Given the description of an element on the screen output the (x, y) to click on. 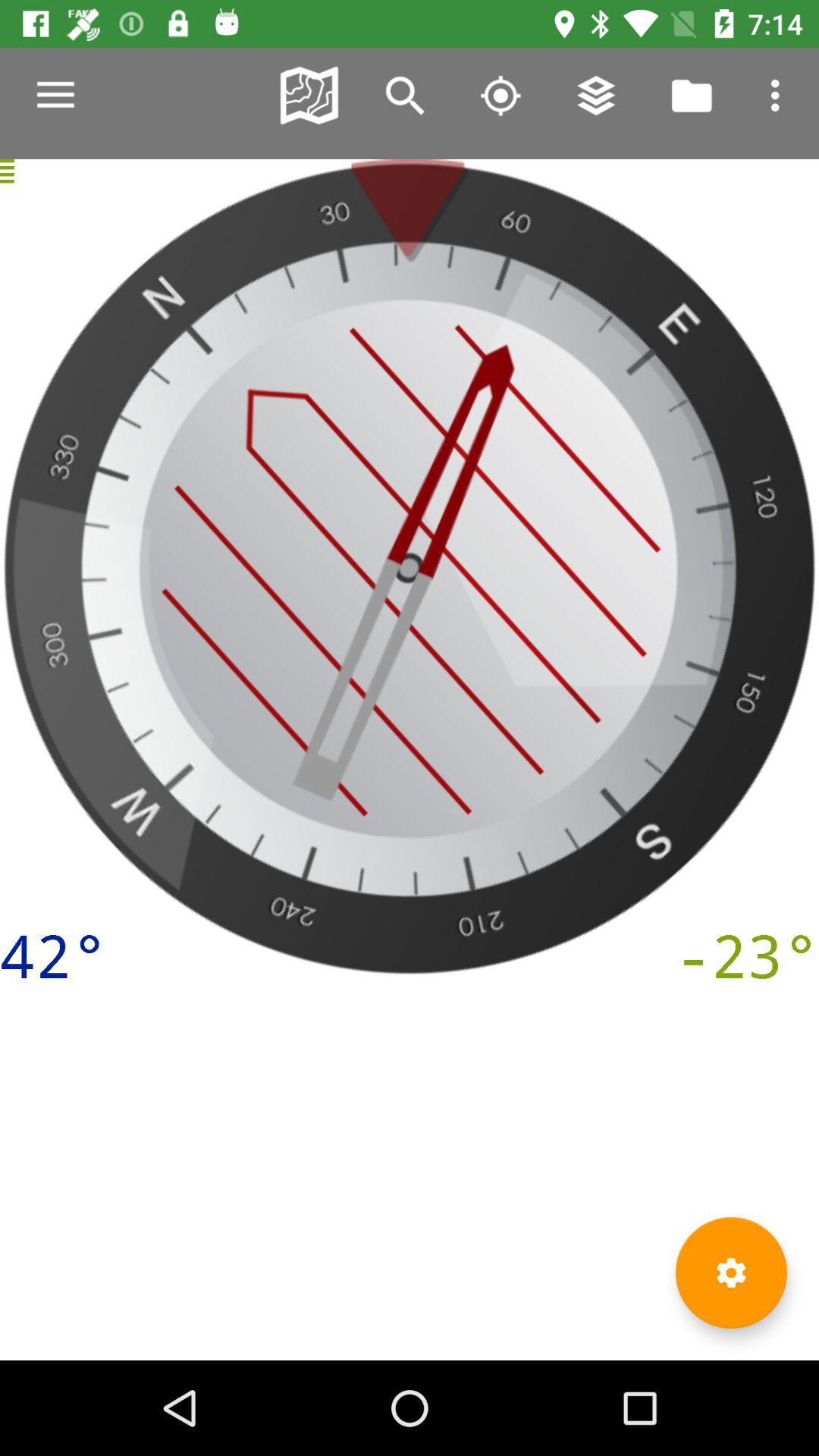
settings option (731, 1272)
